Given the description of an element on the screen output the (x, y) to click on. 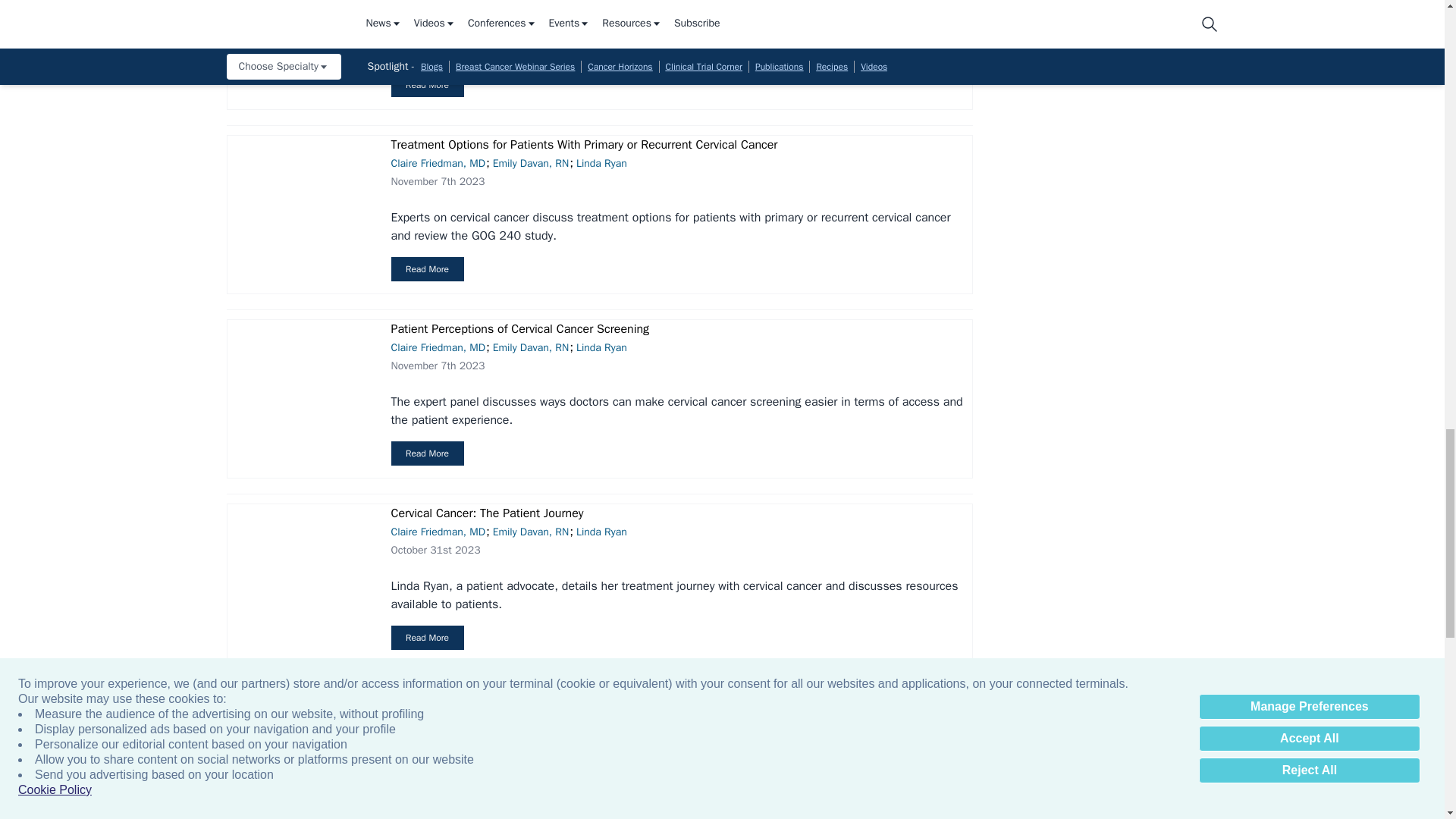
Linda Ryan, a patient advocate (299, 576)
